Given the description of an element on the screen output the (x, y) to click on. 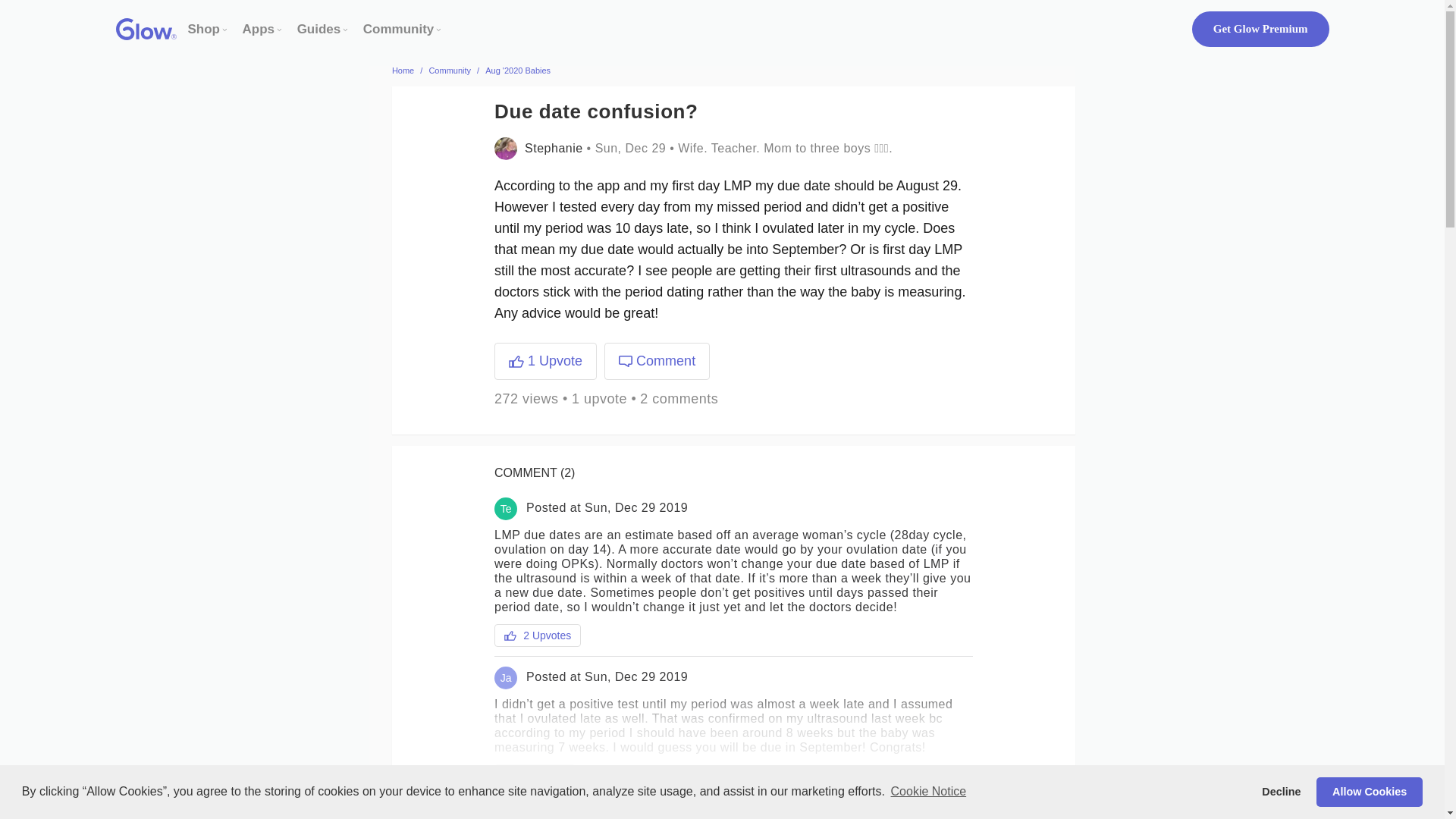
Shop (204, 28)
Decline (1281, 791)
Glow Shop (204, 28)
Guides (318, 28)
Cookie Notice (928, 791)
Allow Cookies (1369, 791)
Glow Community (397, 28)
Apps (259, 28)
